Given the description of an element on the screen output the (x, y) to click on. 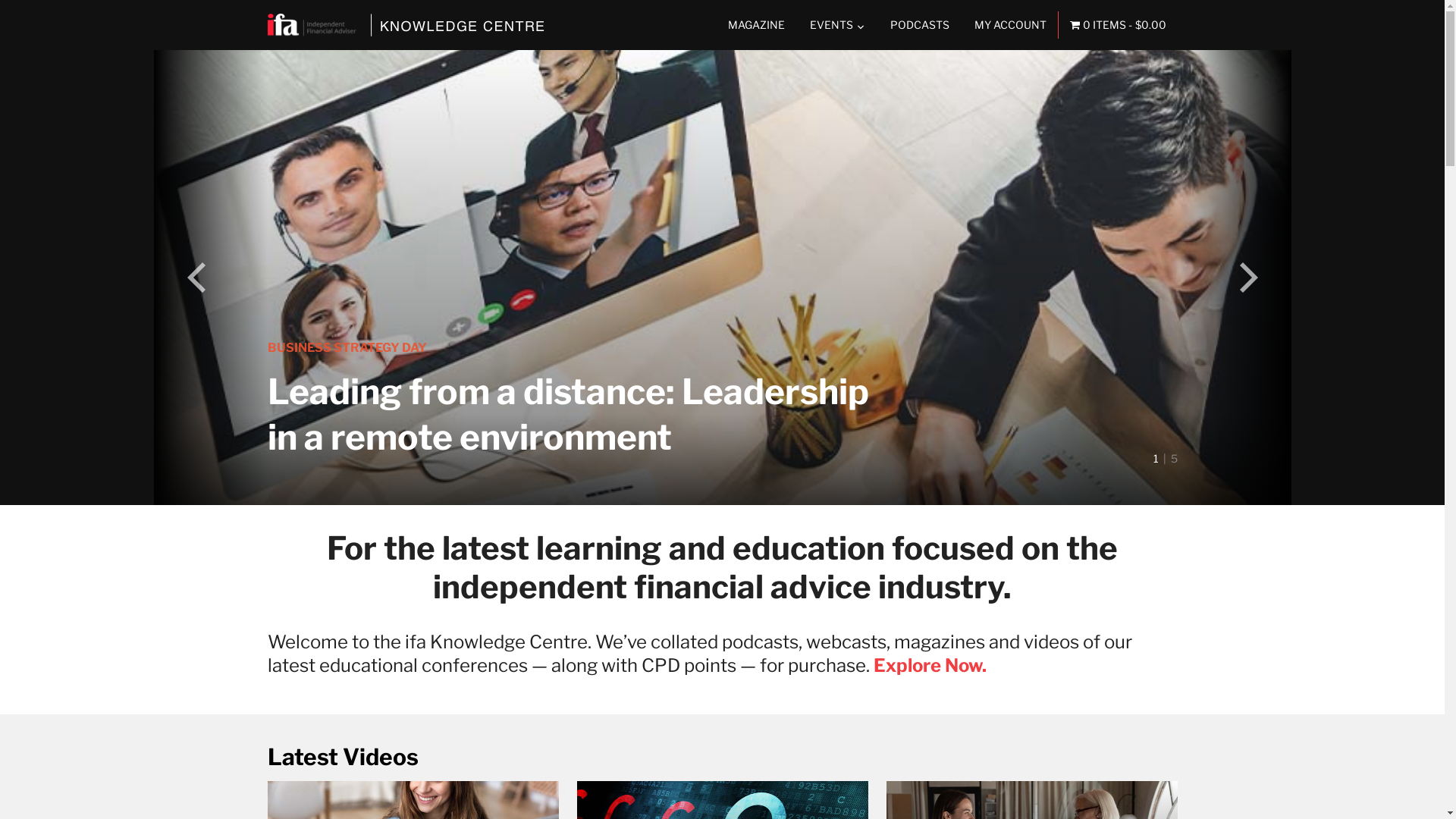
BUSINESS STRATEGY DAY Element type: text (346, 347)
PODCASTS Element type: text (919, 24)
0 ITEMS$0.00 Element type: text (1117, 24)
EVENTS Element type: text (837, 24)
MAGAZINE Element type: text (756, 24)
Leading from a distance: Leadership in a remote environment Element type: text (567, 414)
MY ACCOUNT Element type: text (1010, 24)
